Given the description of an element on the screen output the (x, y) to click on. 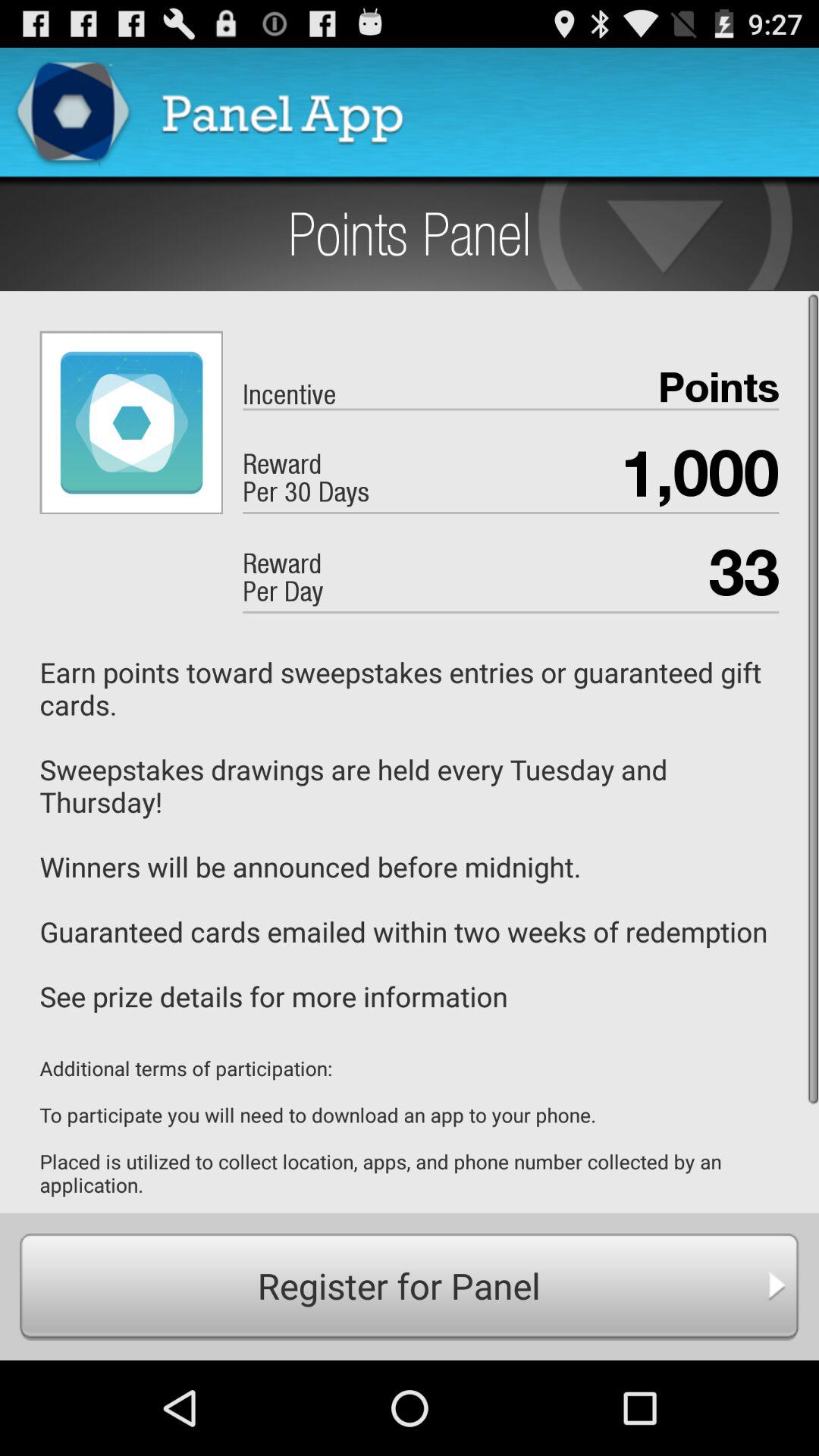
flip until register for panel item (409, 1286)
